Given the description of an element on the screen output the (x, y) to click on. 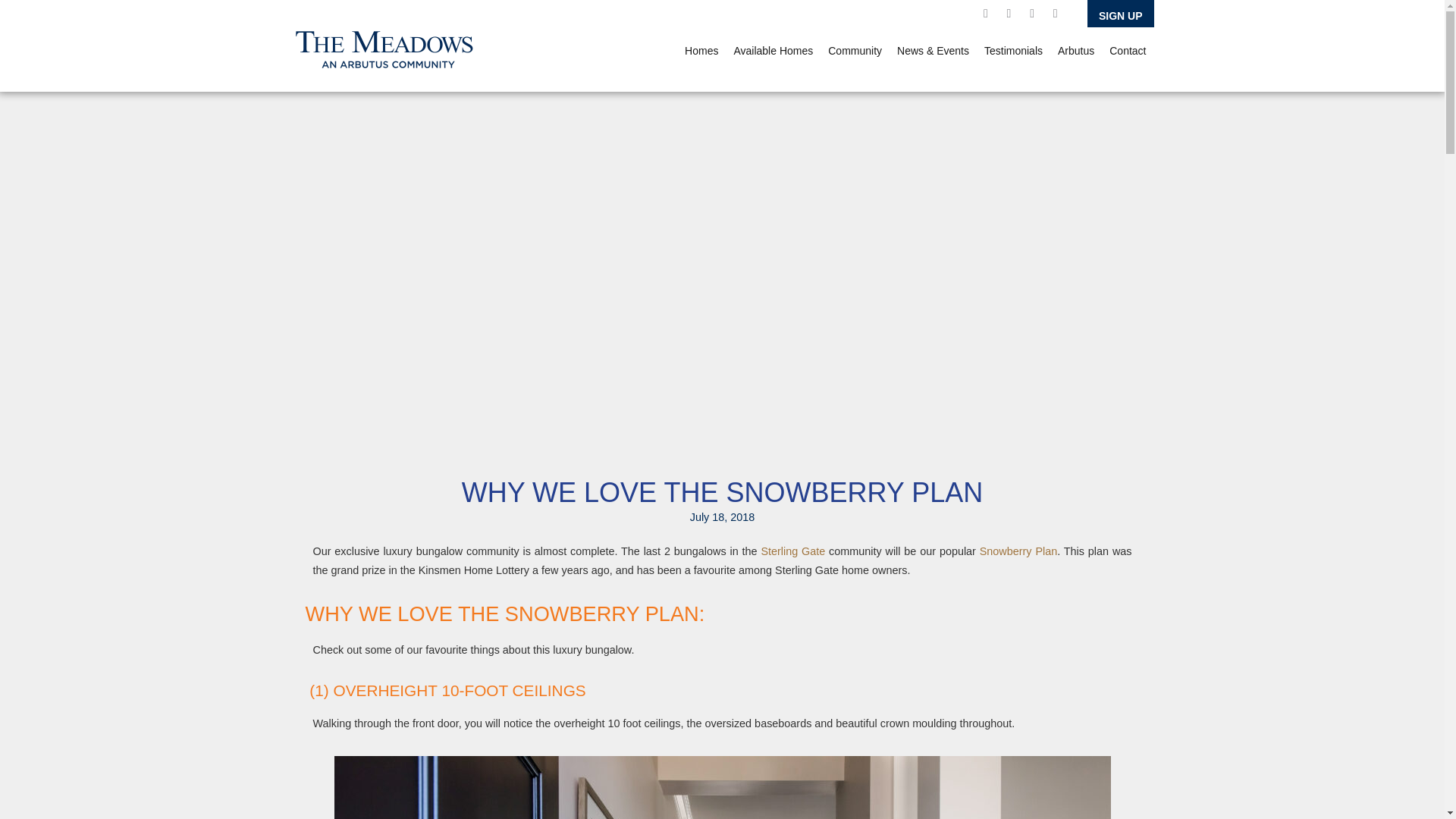
Community (855, 50)
Homes (701, 50)
Testimonials (1012, 50)
SIGN UP (1120, 13)
Contact (1127, 50)
Available Homes (773, 50)
Homes (701, 50)
Available Homes (773, 50)
Snowberry Plan (1018, 551)
Testimonials (1012, 50)
Community (855, 50)
Arbutus (1075, 50)
Contact (1127, 50)
Sterling Gate (792, 551)
Arbutus (1075, 50)
